Given the description of an element on the screen output the (x, y) to click on. 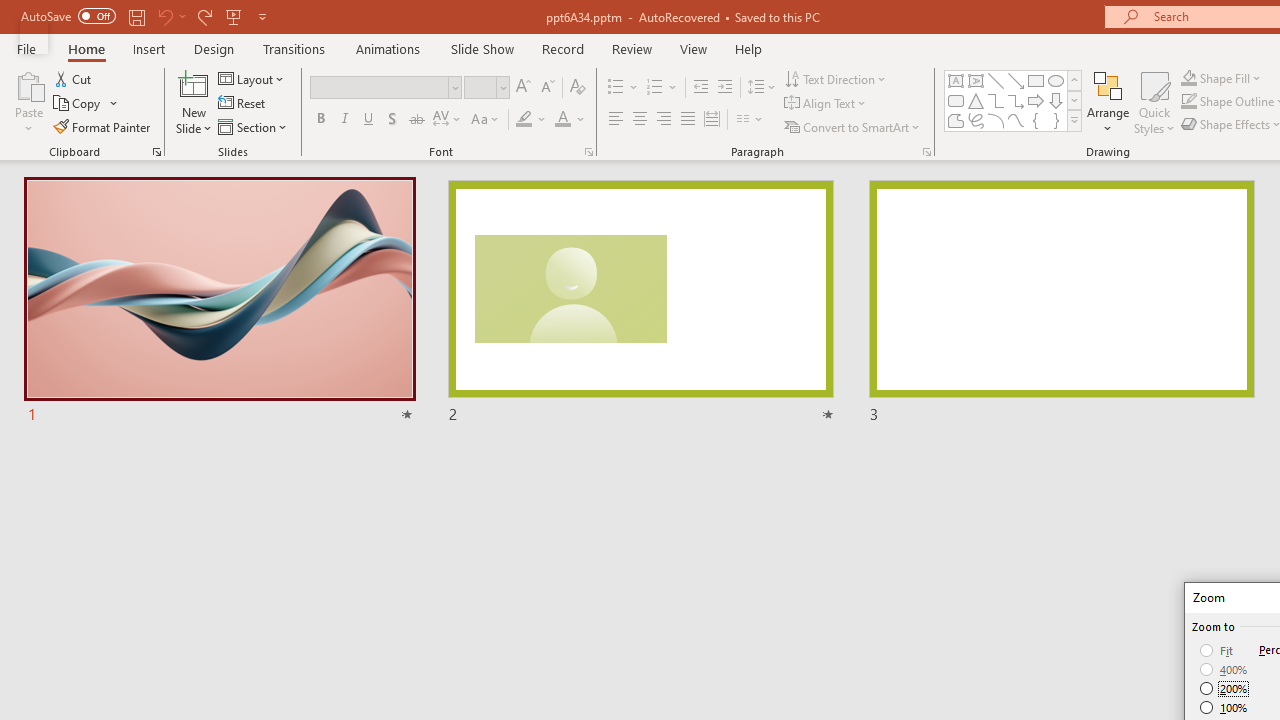
Align Text (826, 103)
Increase Font Size (522, 87)
Bold (320, 119)
Text Box (955, 80)
Arrange (1108, 102)
Columns (750, 119)
AutomationID: ShapesInsertGallery (1014, 100)
Strikethrough (416, 119)
Align Left (616, 119)
